Given the description of an element on the screen output the (x, y) to click on. 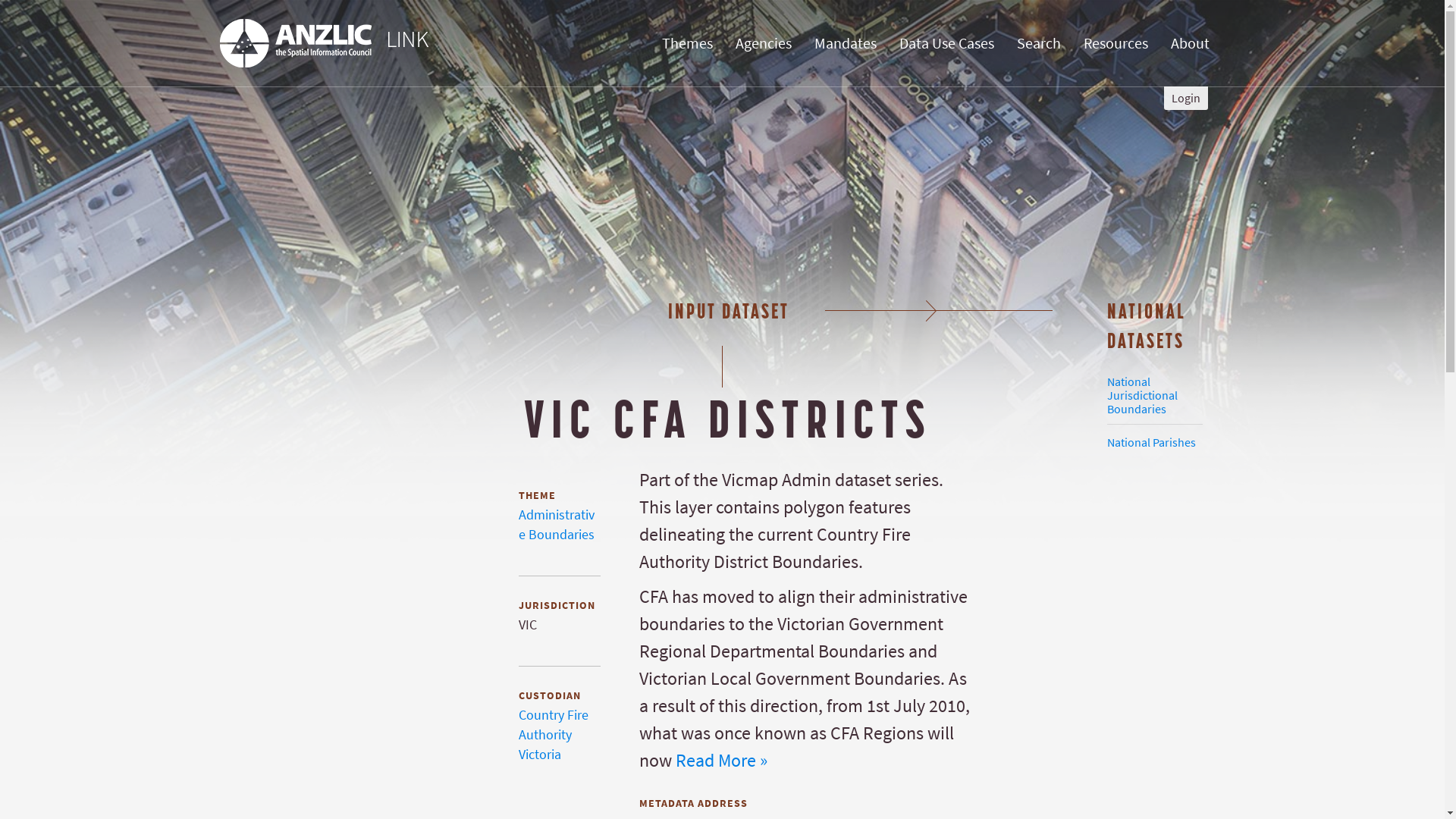
Themes Element type: text (687, 43)
Login Element type: text (1186, 97)
Mandates Element type: text (845, 43)
National Parishes Element type: text (1151, 442)
About Element type: text (1190, 43)
Home Element type: hover (323, 43)
Data Use Cases Element type: text (946, 43)
Administrative Boundaries Element type: text (556, 524)
Resources Element type: text (1115, 43)
Agencies Element type: text (763, 43)
Search Element type: text (1038, 43)
National Jurisdictional Boundaries Element type: text (1142, 395)
Country Fire Authority Victoria Element type: text (553, 734)
